Given the description of an element on the screen output the (x, y) to click on. 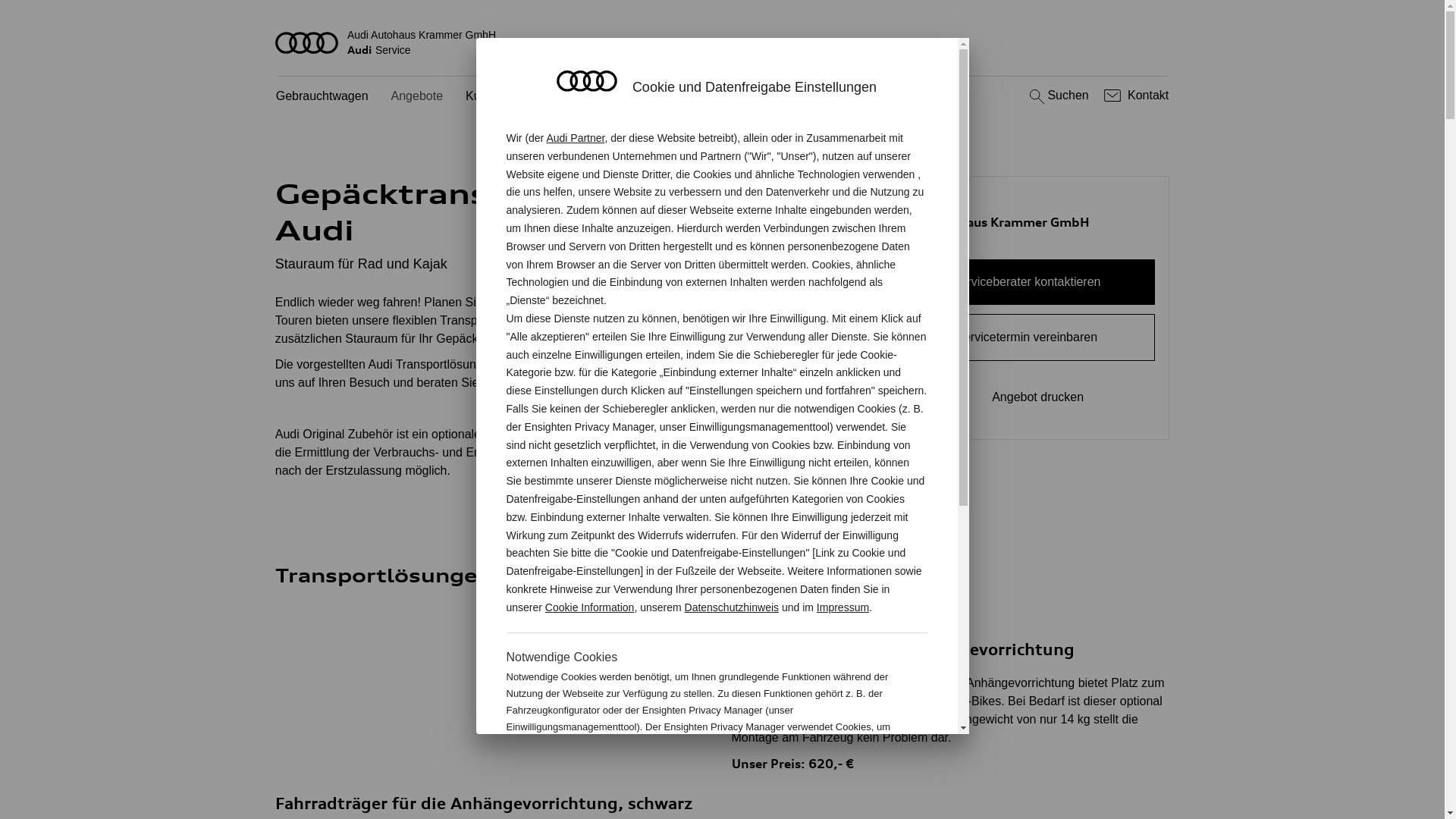
Datenschutzhinweis Element type: text (731, 607)
Audi Partner Element type: text (575, 137)
Angebot drucken Element type: text (1026, 397)
Suchen Element type: text (1056, 95)
Cookie Information Element type: text (589, 607)
Serviceberater kontaktieren Element type: text (1025, 281)
Audi Autohaus Krammer GmbH
AudiService Element type: text (722, 42)
Gebrauchtwagen Element type: text (322, 96)
Kontakt Element type: text (1134, 95)
Cookie Information Element type: text (847, 776)
Angebote Element type: text (417, 96)
Servicetermin vereinbaren Element type: text (1025, 336)
Impressum Element type: text (842, 607)
Kundenservice Element type: text (505, 96)
